Given the description of an element on the screen output the (x, y) to click on. 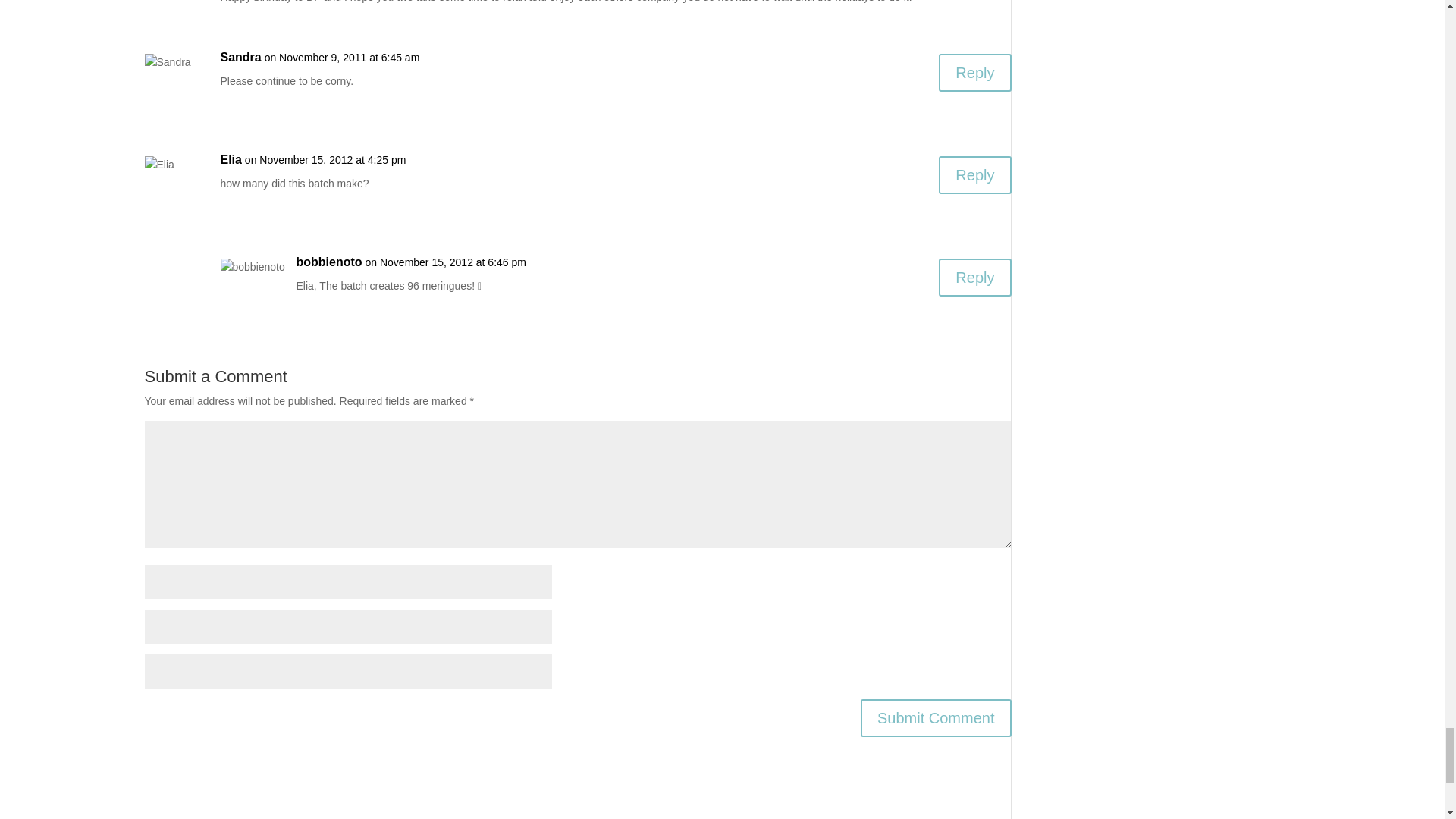
Submit Comment (935, 718)
